Given the description of an element on the screen output the (x, y) to click on. 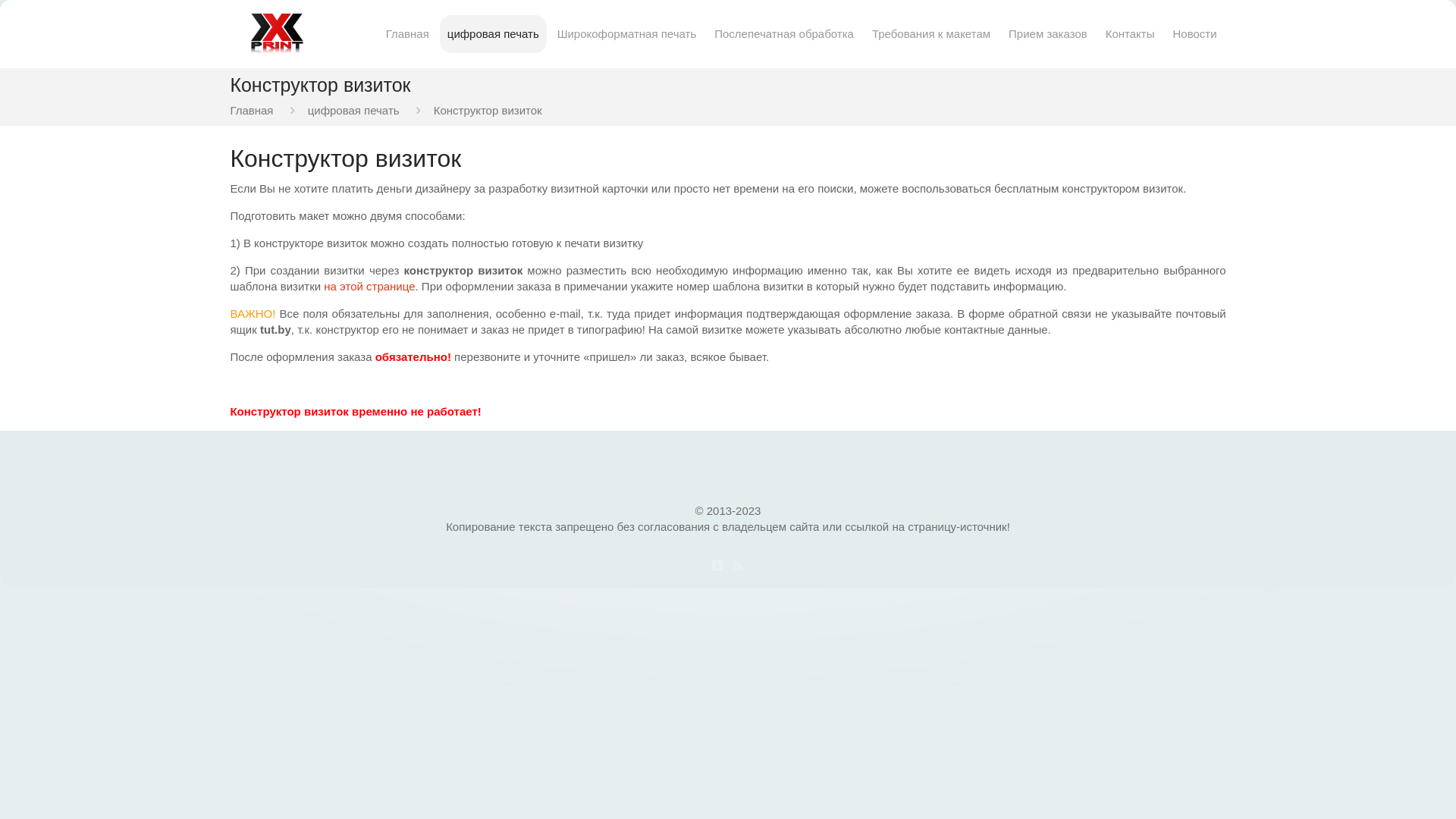
VKontakte Element type: hover (717, 564)
RSS Element type: hover (738, 564)
